Given the description of an element on the screen output the (x, y) to click on. 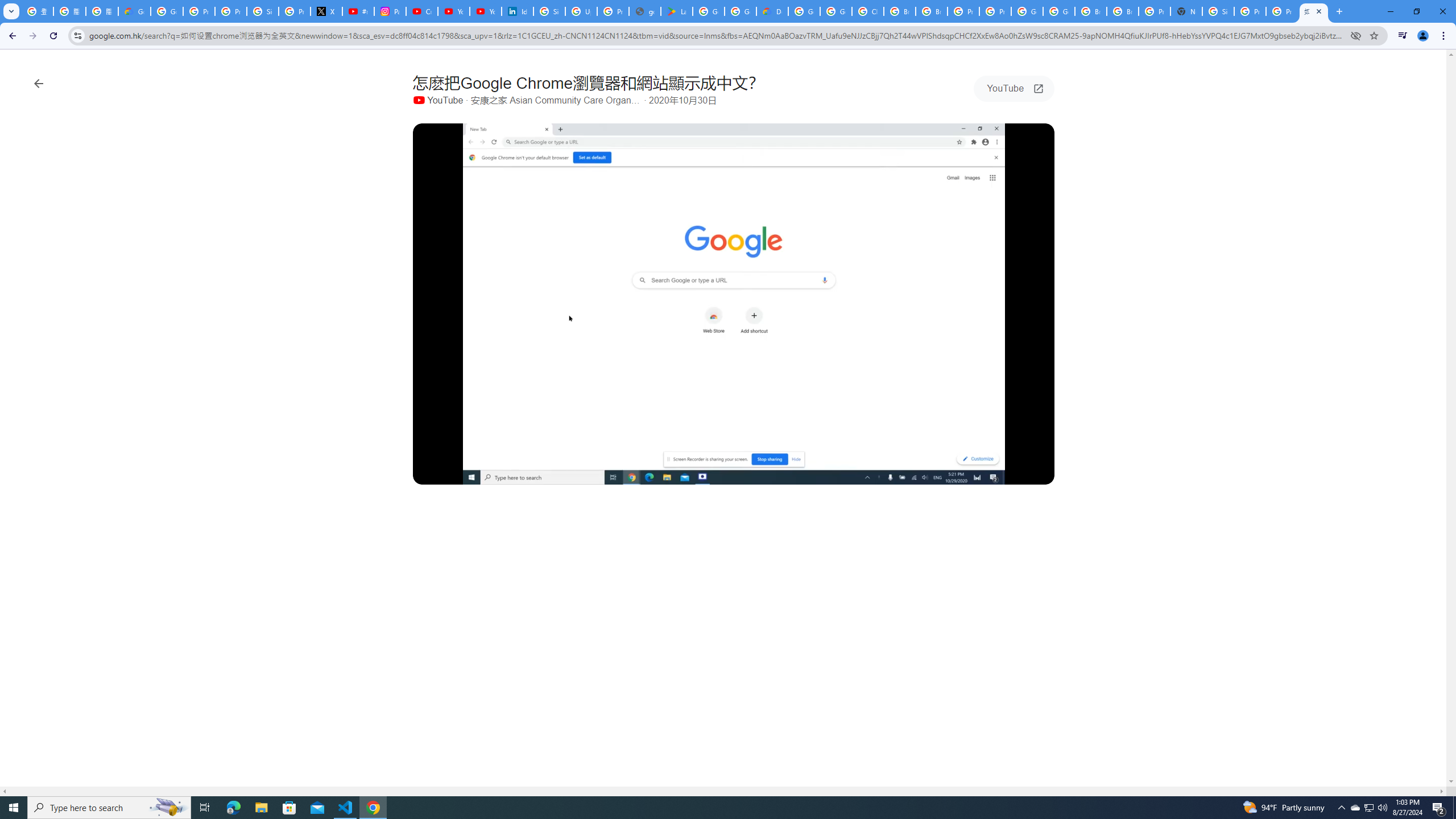
Browse Chrome as a guest - Computer - Google Chrome Help (1091, 11)
Seek slider (733, 460)
Last Shelter: Survival - Apps on Google Play (676, 11)
Full screen (f) (1036, 472)
Watch on YouTube (1005, 472)
Subtitles/closed captions unavailable (951, 472)
